Given the description of an element on the screen output the (x, y) to click on. 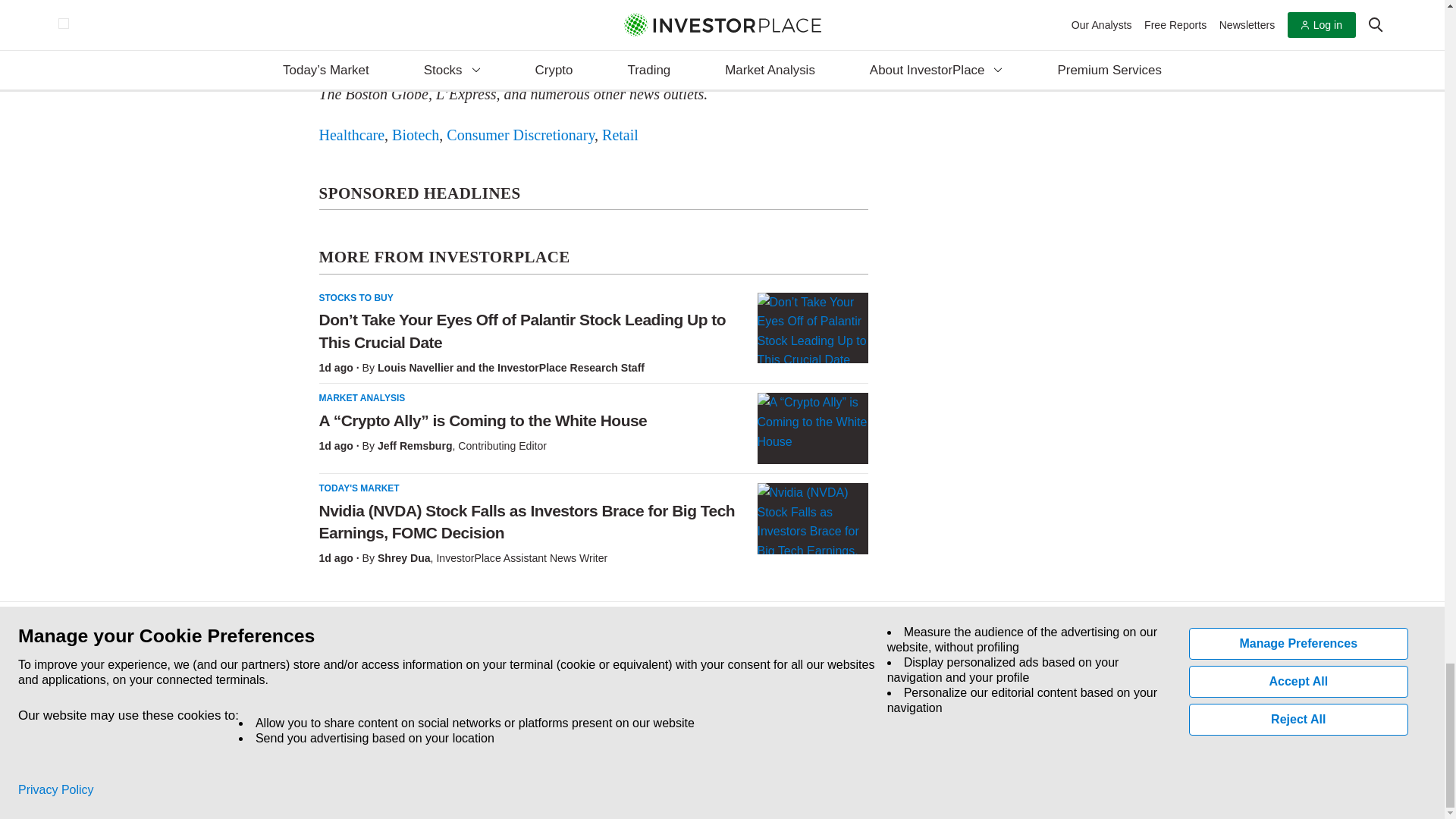
View profile of Shrey Dua (403, 558)
Articles from Biotech industry (415, 134)
View profile of Jeff Remsburg (414, 445)
Articles from Consumer Discretionary industry (520, 134)
Articles from Retail industry (620, 134)
Visit our Twitter page (354, 711)
Articles from Healthcare industry (351, 134)
Subscribe to our RSS feed (389, 711)
Visit our Facebook Page (319, 711)
